Given the description of an element on the screen output the (x, y) to click on. 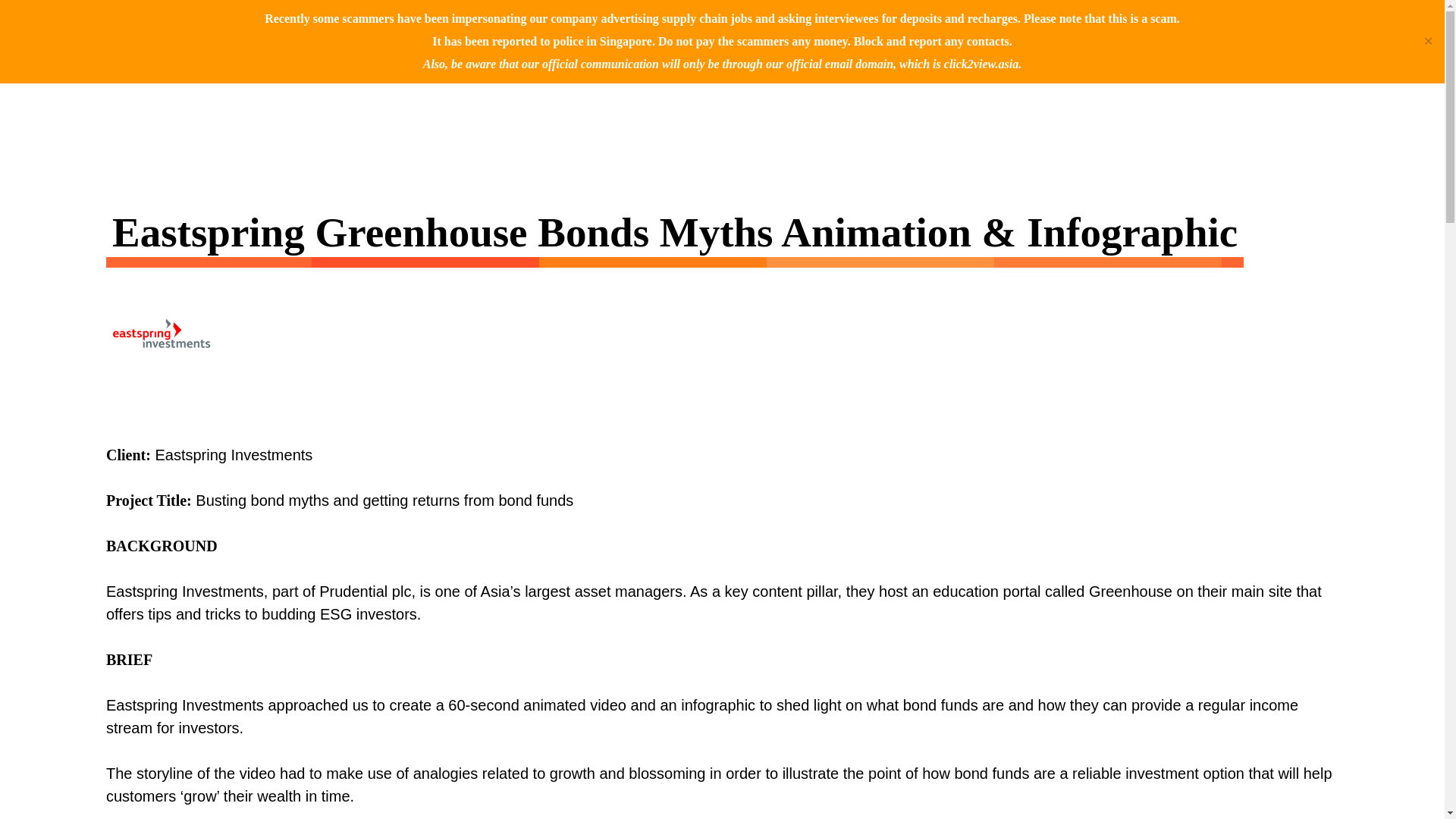
GET IN TOUCH (1120, 31)
Team (997, 31)
BLOG (931, 31)
Portfolio (844, 31)
PORTFOLIO (844, 31)
Blog (931, 31)
TEAM (997, 31)
